Given the description of an element on the screen output the (x, y) to click on. 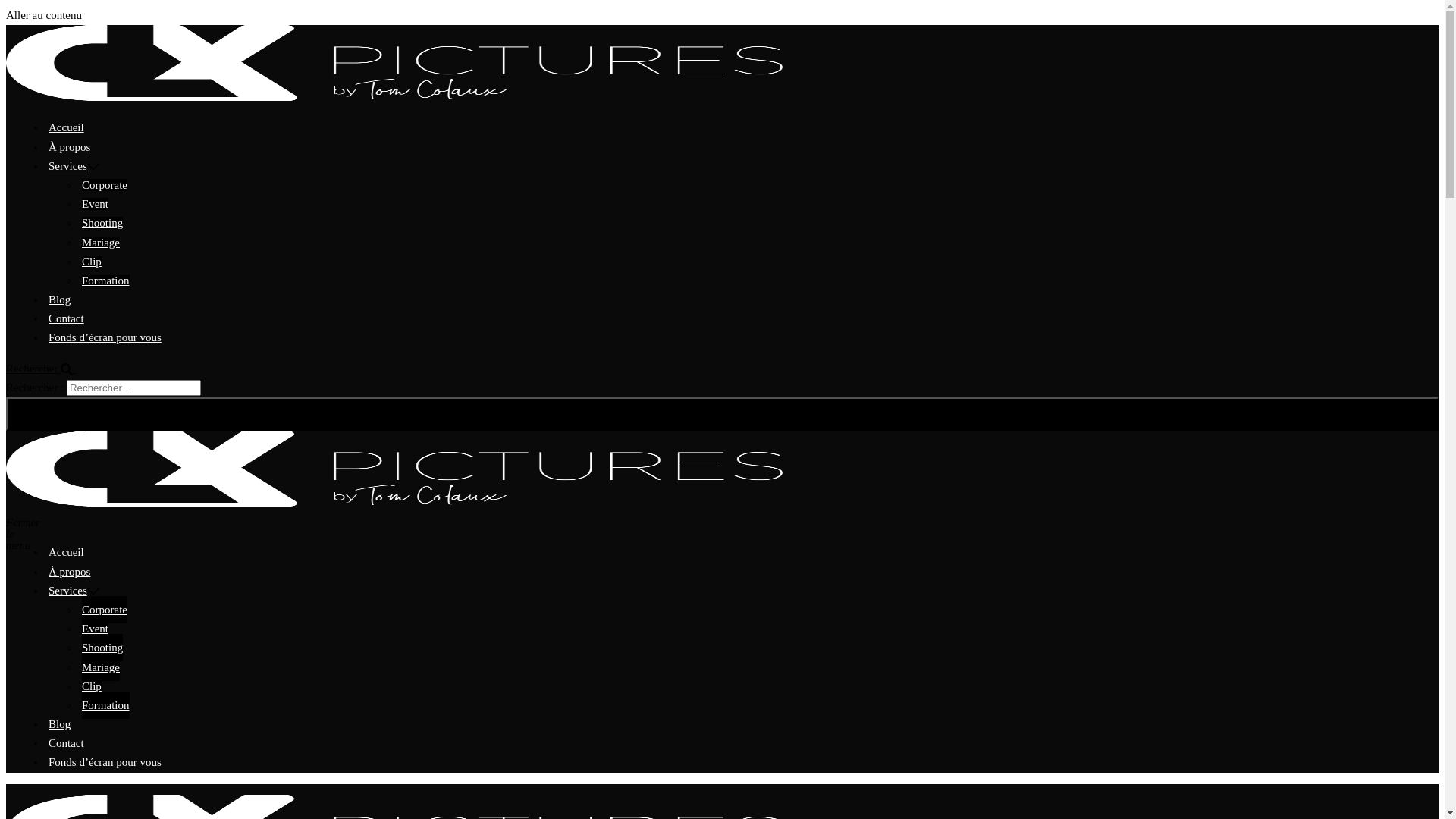
Accueil Element type: text (66, 127)
Fermer le menu Element type: text (12, 521)
Corporate Element type: text (104, 184)
Clip Element type: text (91, 261)
Blog Element type: text (59, 299)
Services Element type: text (67, 590)
Event Element type: text (94, 203)
Shooting Element type: text (101, 222)
Formation Element type: text (105, 704)
Shooting Element type: text (101, 647)
Event Element type: text (94, 628)
Corporate Element type: text (104, 609)
Contact Element type: text (66, 318)
CLX Pictures Element type: hover (394, 97)
Mariage Element type: text (100, 242)
Services Element type: text (67, 166)
Contact Element type: text (66, 742)
Rechercher Element type: text (46, 368)
Blog Element type: text (59, 723)
Formation Element type: text (105, 280)
Mariage Element type: text (100, 666)
Aller au contenu Element type: text (43, 15)
Rechercher Element type: text (722, 413)
CLX Pictures Element type: hover (394, 502)
Clip Element type: text (91, 685)
Accueil Element type: text (66, 551)
